Given the description of an element on the screen output the (x, y) to click on. 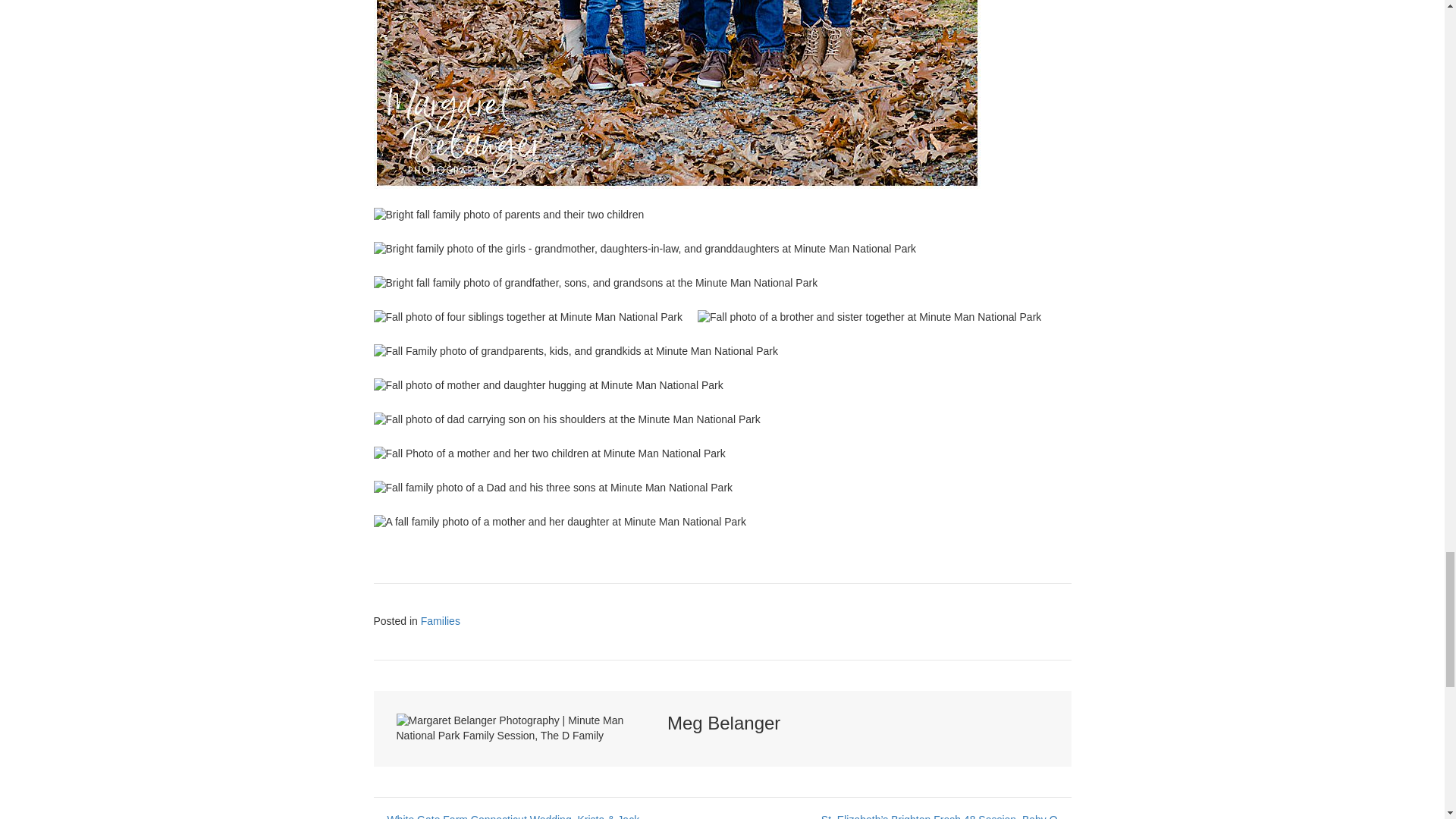
Minute Man National Park Extended Family Session (574, 351)
Minute Man National Park Extended family session (507, 215)
Minute Man National Park Extended Family Session (548, 453)
Minute Man National Park Extended Family Session (869, 317)
Minute Man National Park Extended Family Session (594, 283)
Minute Man National Park Extended Family Session (566, 419)
Minute Man National Park Extended Family Session (526, 317)
Minute Man National Park Extended Family Session (643, 249)
Minute Man National Park Extended Family Session (547, 385)
Minute Man National Park Extended Family Session (675, 94)
